Given the description of an element on the screen output the (x, y) to click on. 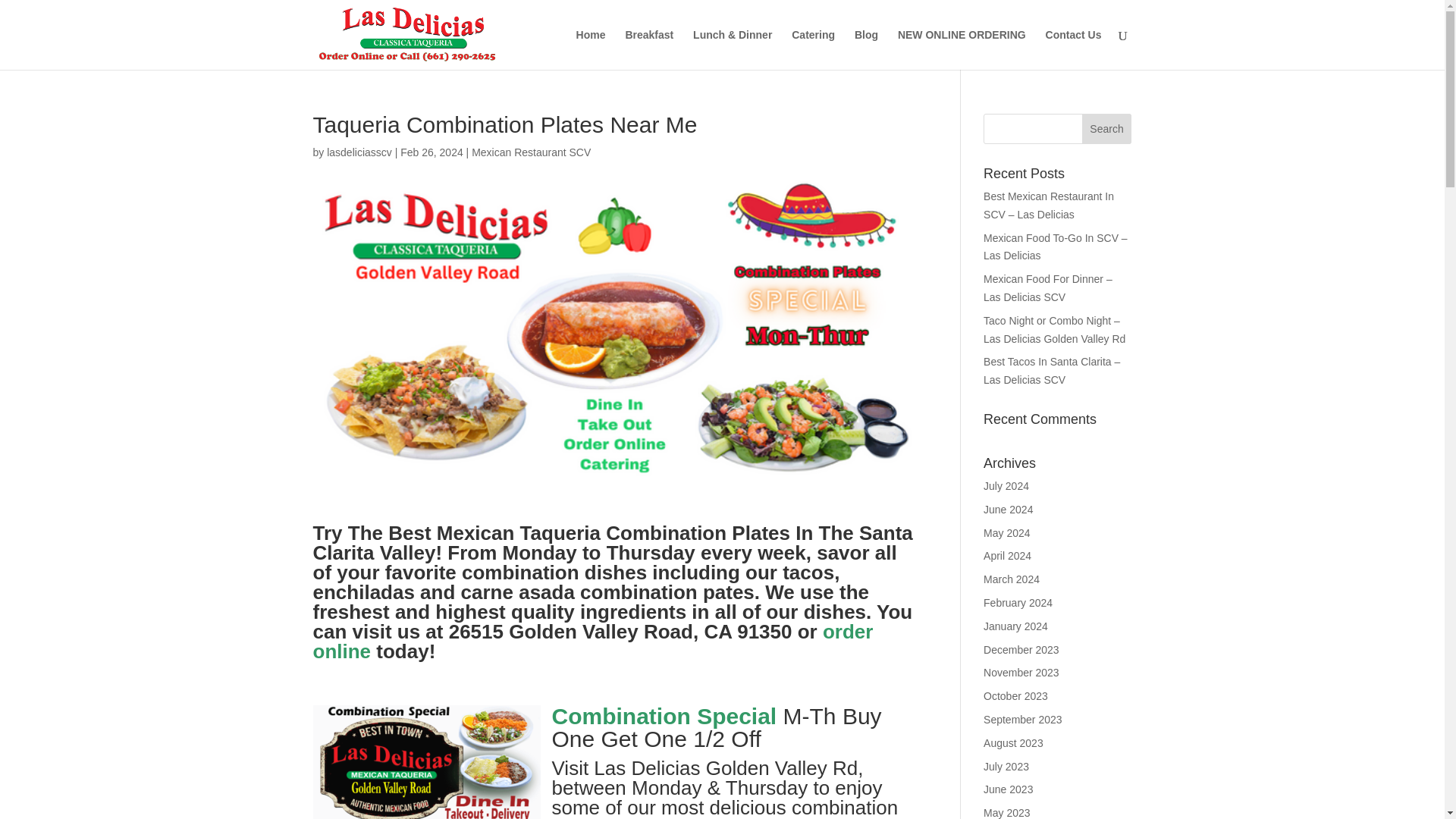
Search (1106, 128)
June 2024 (1008, 509)
Contact Us (1073, 49)
Breakfast (648, 49)
May 2024 (1006, 532)
January 2024 (1016, 625)
Search (1106, 128)
order online (592, 640)
Mexican Restaurant SCV (531, 152)
Catering (813, 49)
NEW ONLINE ORDERING (962, 49)
February 2024 (1018, 603)
Combination Special (664, 715)
March 2024 (1011, 579)
April 2024 (1007, 555)
